Given the description of an element on the screen output the (x, y) to click on. 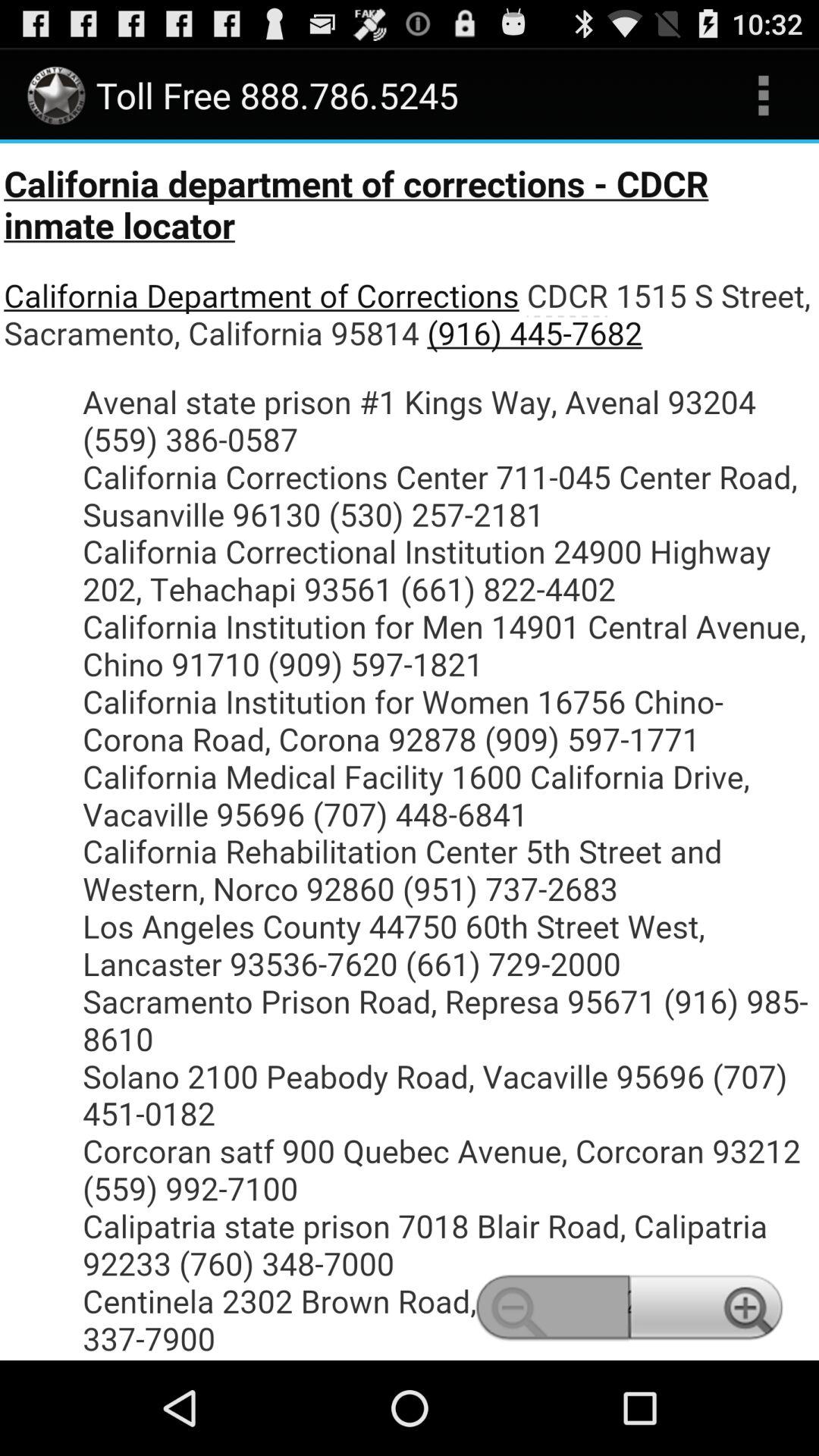
seen the paragraph (409, 751)
